Given the description of an element on the screen output the (x, y) to click on. 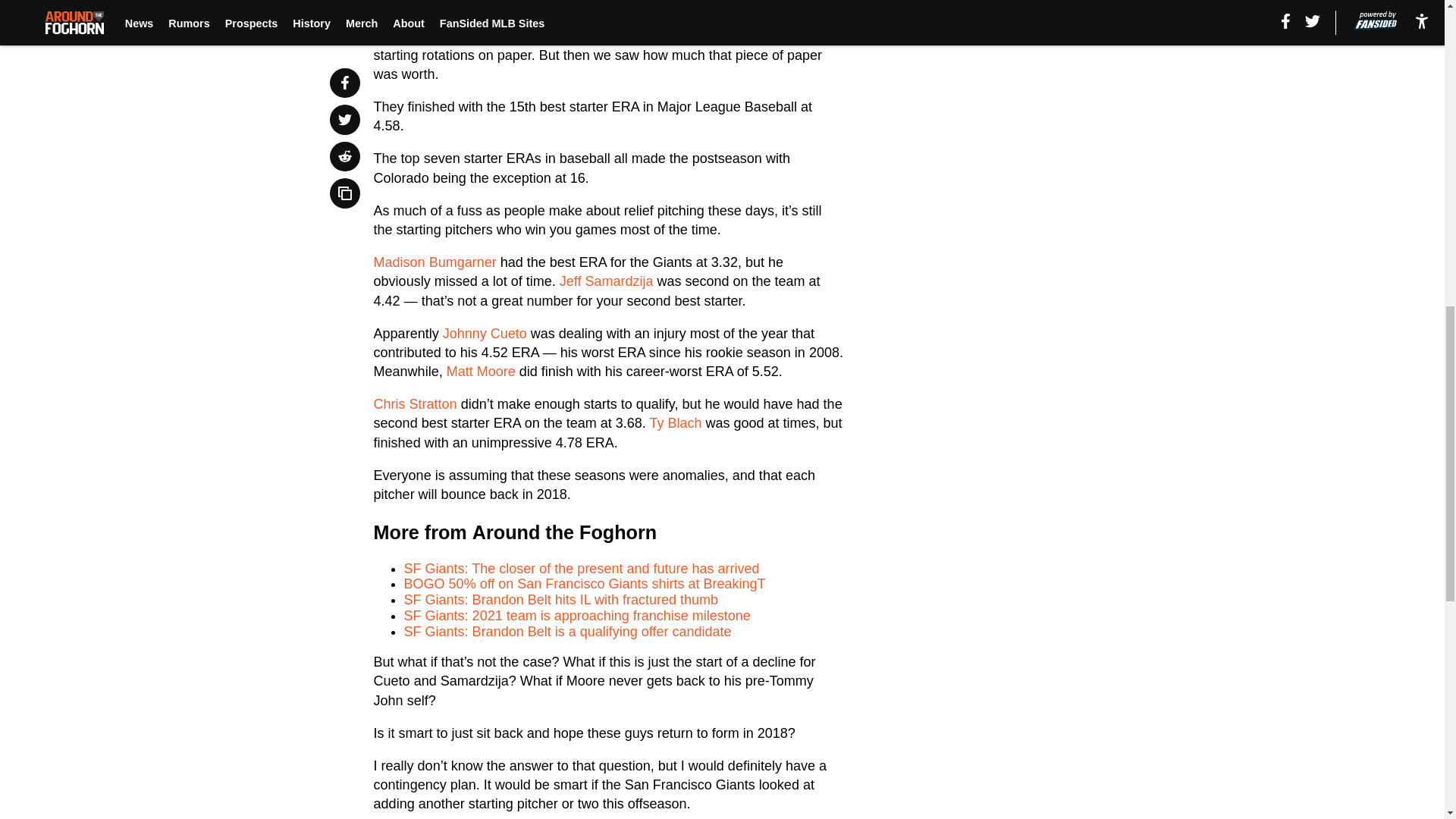
SF Giants: Brandon Belt hits IL with fractured thumb (561, 599)
SF Giants: 2021 team is approaching franchise milestone (577, 615)
SF Giants: Brandon Belt is a qualifying offer candidate (568, 631)
Chris Stratton (415, 403)
SF Giants: The closer of the present and future has arrived (582, 568)
Ty Blach (675, 422)
Matt Moore (480, 371)
Jeff Samardzija (606, 281)
Johnny Cueto (484, 333)
Madison Bumgarner (435, 262)
